Given the description of an element on the screen output the (x, y) to click on. 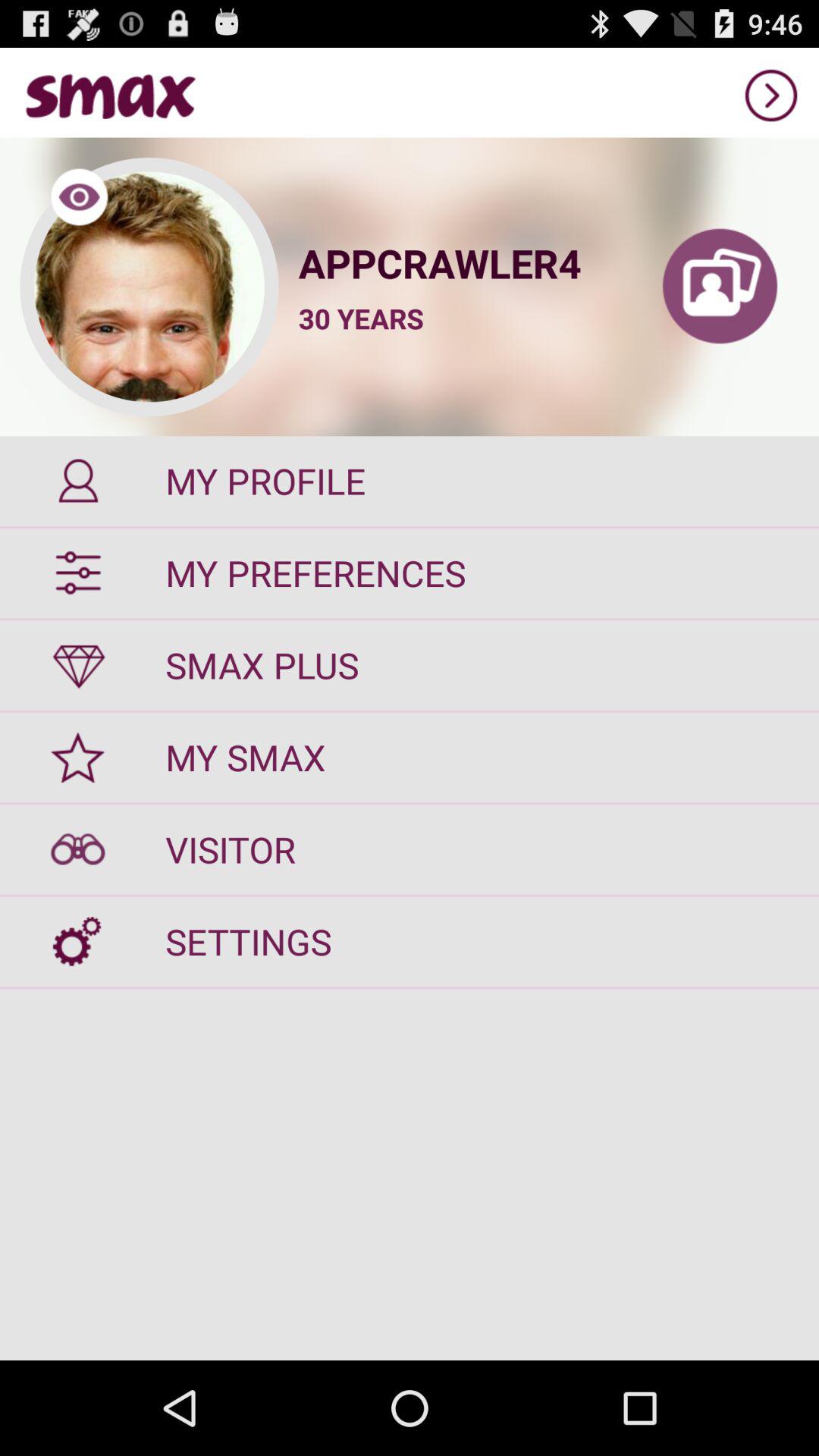
launch item above the my profile icon (360, 318)
